Given the description of an element on the screen output the (x, y) to click on. 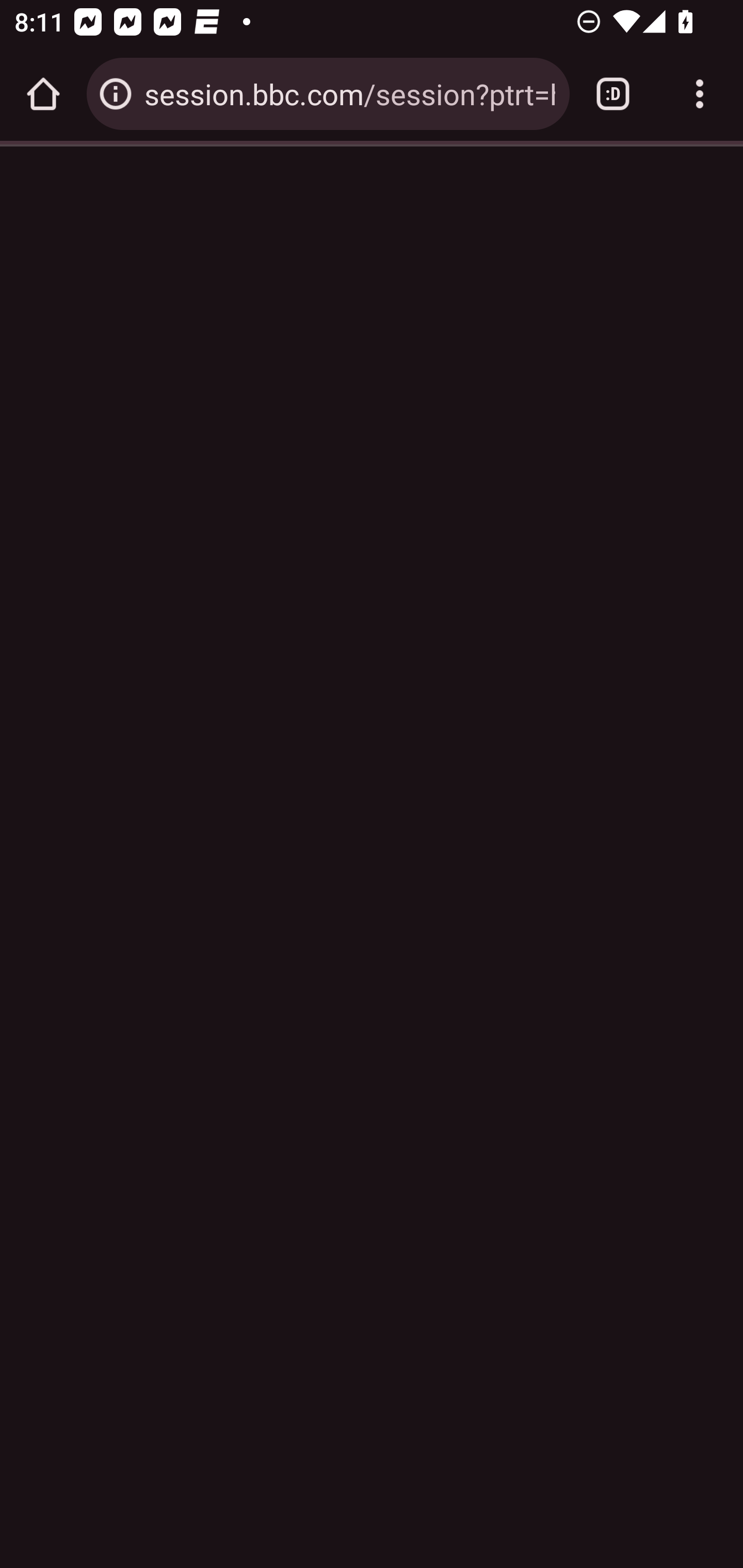
Open the home page (43, 93)
Your connection to this site is not secure (115, 93)
Switch or close tabs (612, 93)
Customize and control Google Chrome (699, 93)
